Given the description of an element on the screen output the (x, y) to click on. 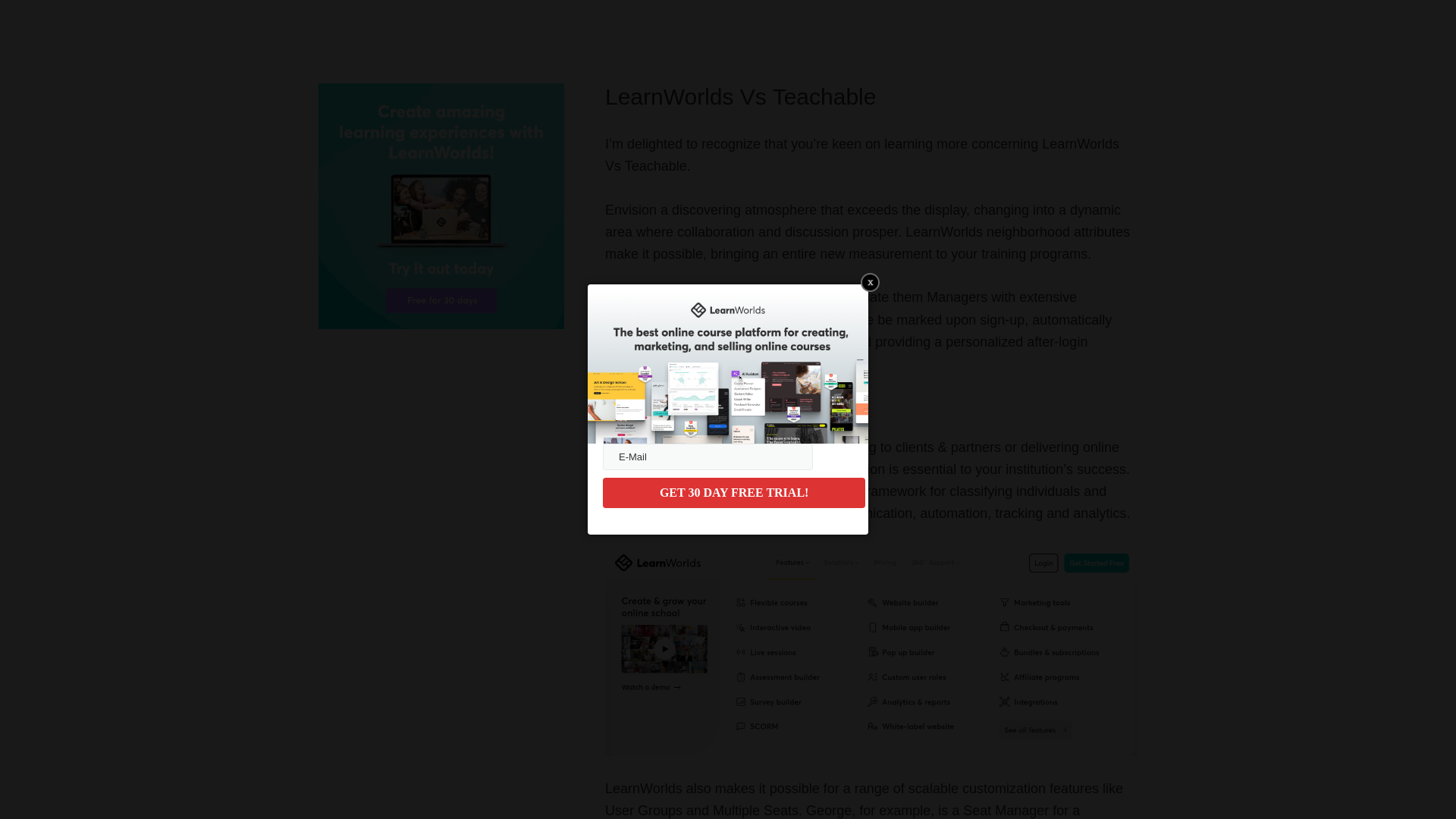
GET 30 DAY FREE TRIAL! (733, 492)
GET 30 DAY FREE TRIAL! (733, 492)
